Given the description of an element on the screen output the (x, y) to click on. 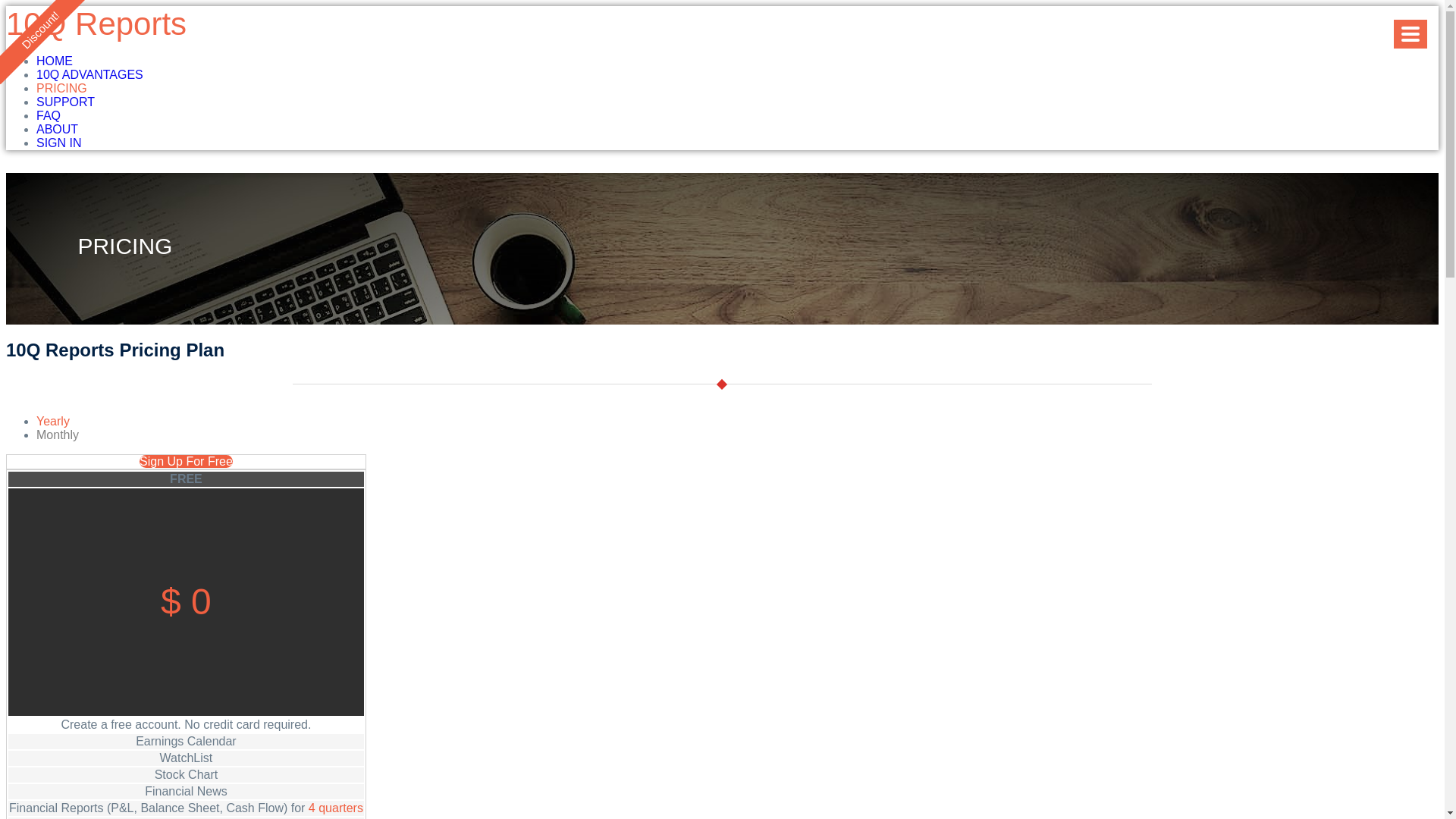
SUPPORT Element type: text (65, 101)
HOME Element type: text (54, 60)
Monthly Element type: text (57, 434)
ABOUT Element type: text (57, 128)
SIGN IN Element type: text (58, 142)
Toggle navigation Element type: text (1410, 33)
Yearly Element type: text (52, 420)
10Q Reports Element type: text (96, 23)
10Q ADVANTAGES Element type: text (89, 74)
FAQ Element type: text (48, 115)
Sign Up For Free Element type: text (185, 461)
PRICING Element type: text (61, 87)
